Given the description of an element on the screen output the (x, y) to click on. 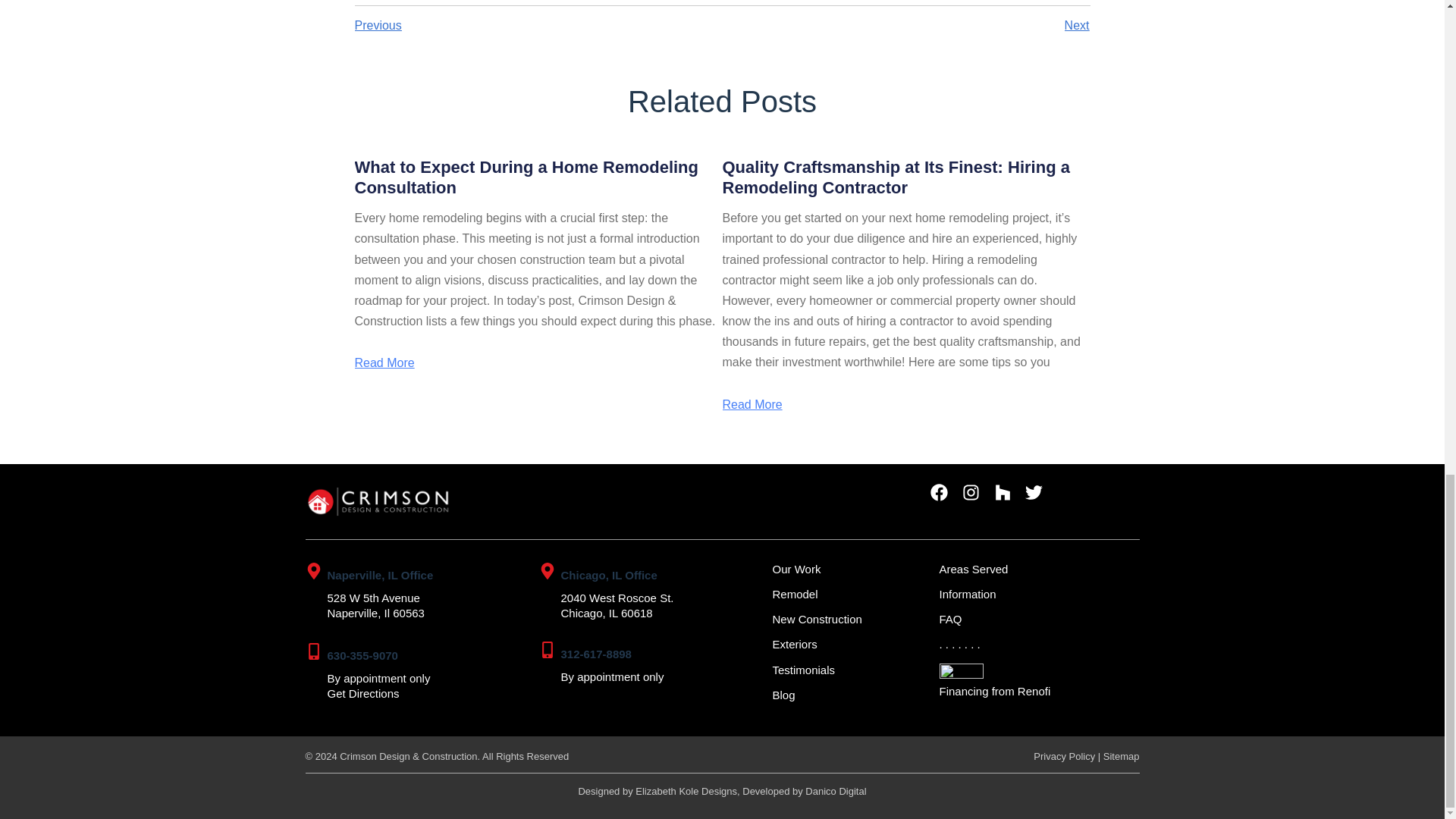
Next (905, 25)
Previous (538, 25)
